Given the description of an element on the screen output the (x, y) to click on. 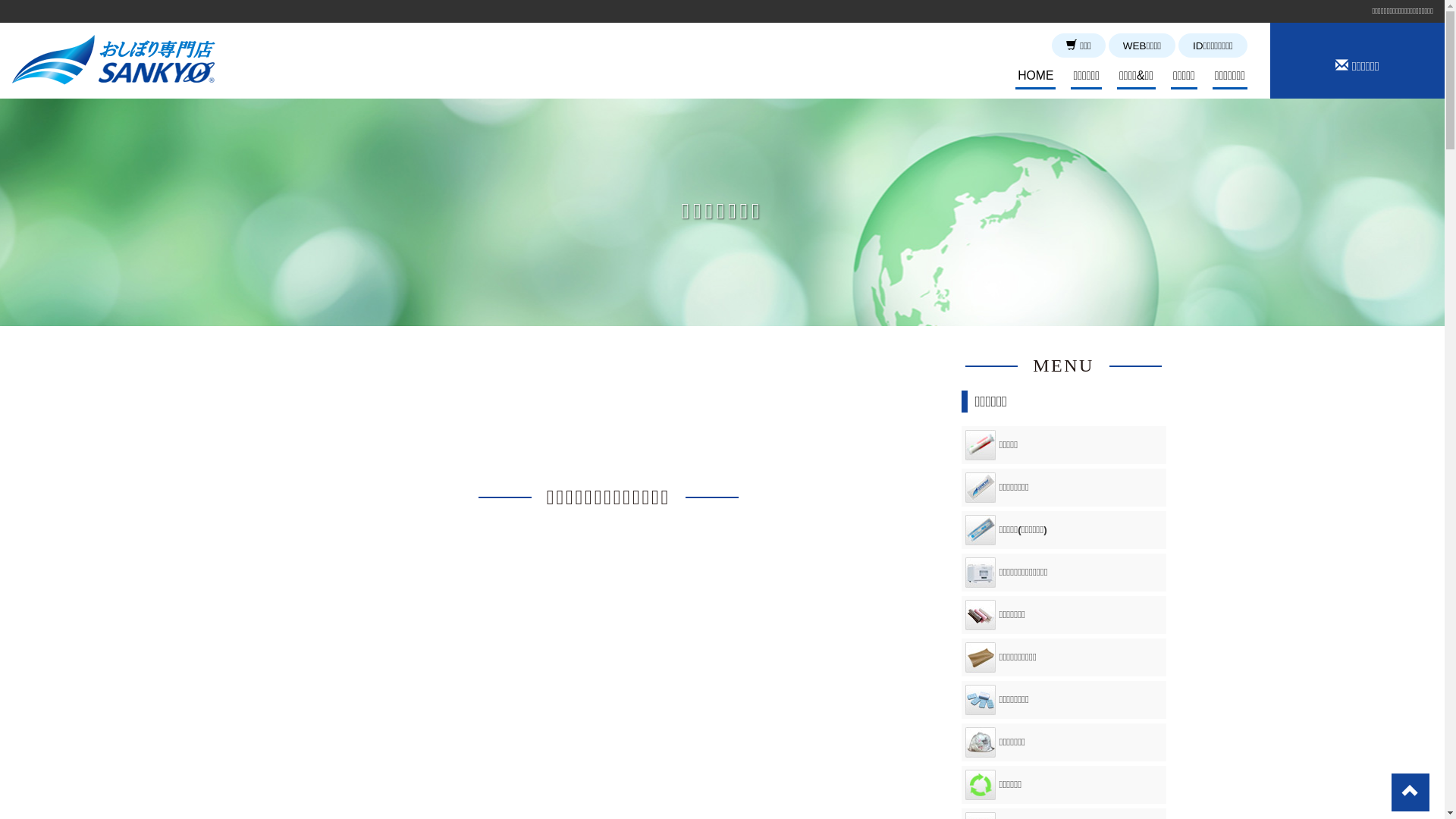
HOME Element type: text (1035, 76)
